Given the description of an element on the screen output the (x, y) to click on. 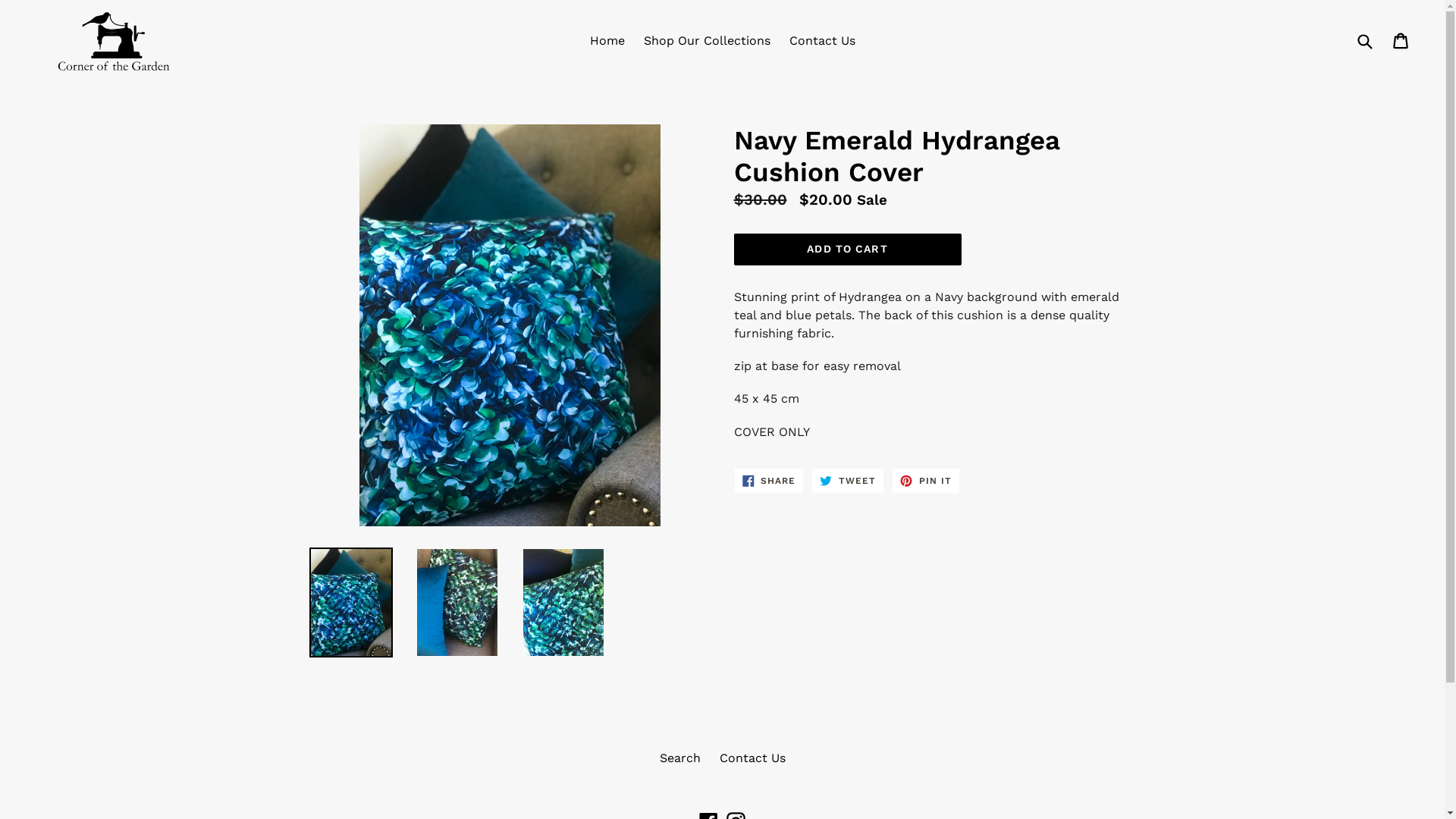
PIN IT
PIN ON PINTEREST Element type: text (925, 480)
TWEET
TWEET ON TWITTER Element type: text (847, 480)
Cart
Cart Element type: text (1401, 40)
Submit Element type: text (1363, 40)
Shop Our Collections Element type: text (706, 40)
Contact Us Element type: text (751, 757)
ADD TO CART Element type: text (847, 249)
Search Element type: text (679, 757)
SHARE
SHARE ON FACEBOOK Element type: text (769, 480)
Home Element type: text (607, 40)
Contact Us Element type: text (821, 40)
